Given the description of an element on the screen output the (x, y) to click on. 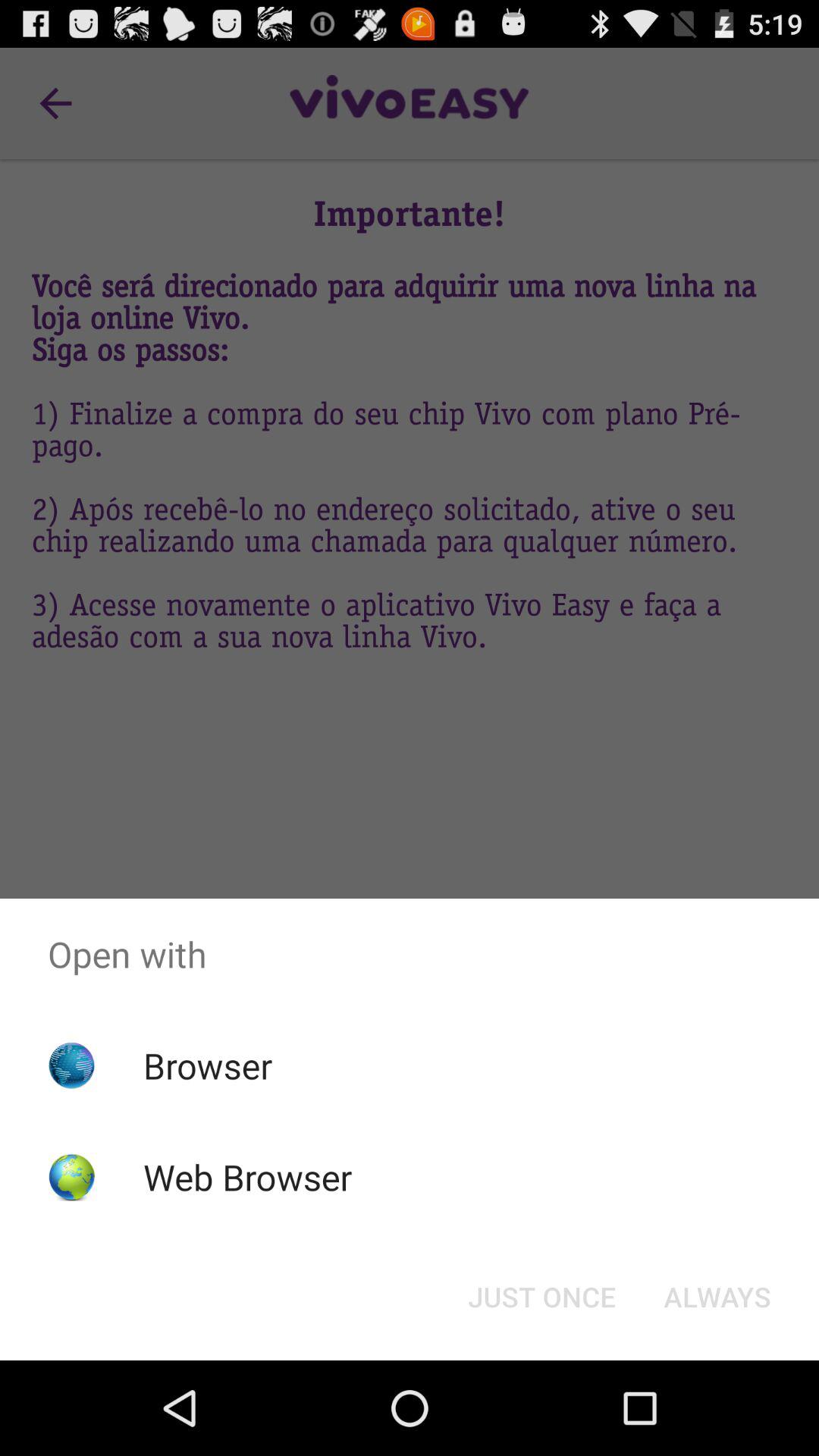
launch just once at the bottom (541, 1296)
